Given the description of an element on the screen output the (x, y) to click on. 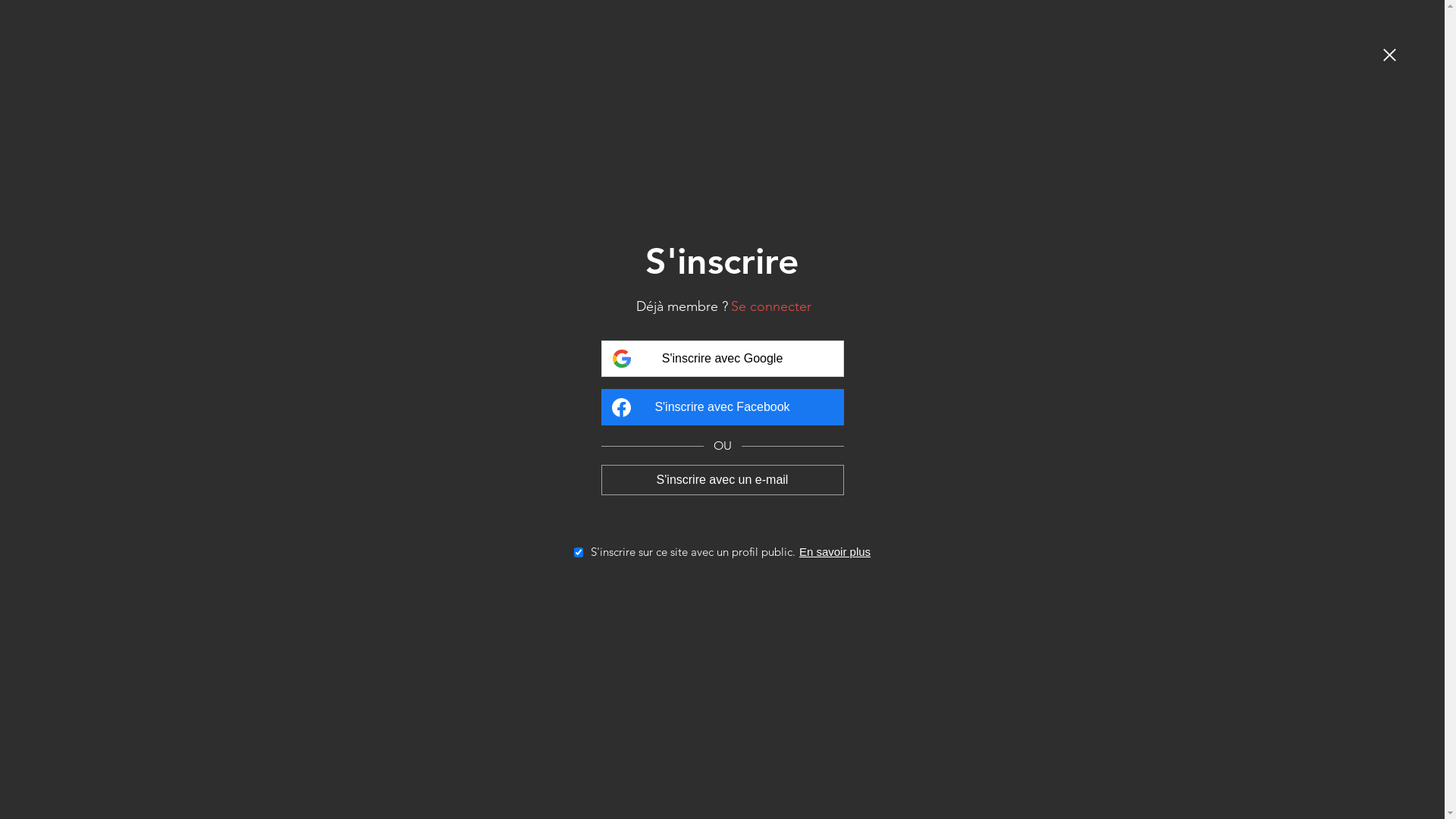
En savoir plus Element type: text (834, 551)
Se connecter Element type: text (771, 306)
S'inscrire avec un e-mail Element type: text (721, 479)
S'inscrire avec Facebook Element type: text (721, 407)
S'inscrire avec Google Element type: text (721, 358)
